Given the description of an element on the screen output the (x, y) to click on. 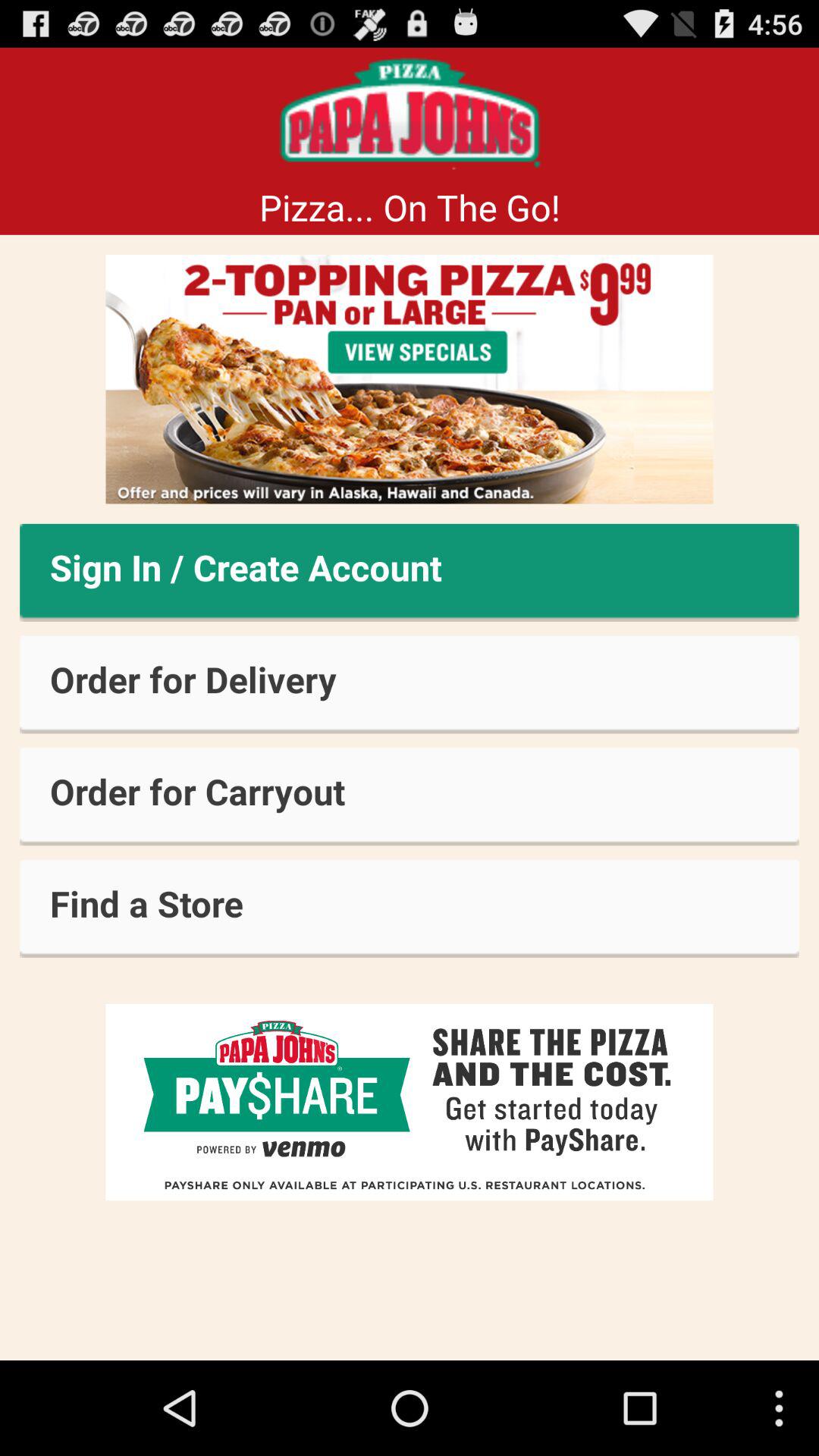
choose the sign in create button (409, 572)
